Given the description of an element on the screen output the (x, y) to click on. 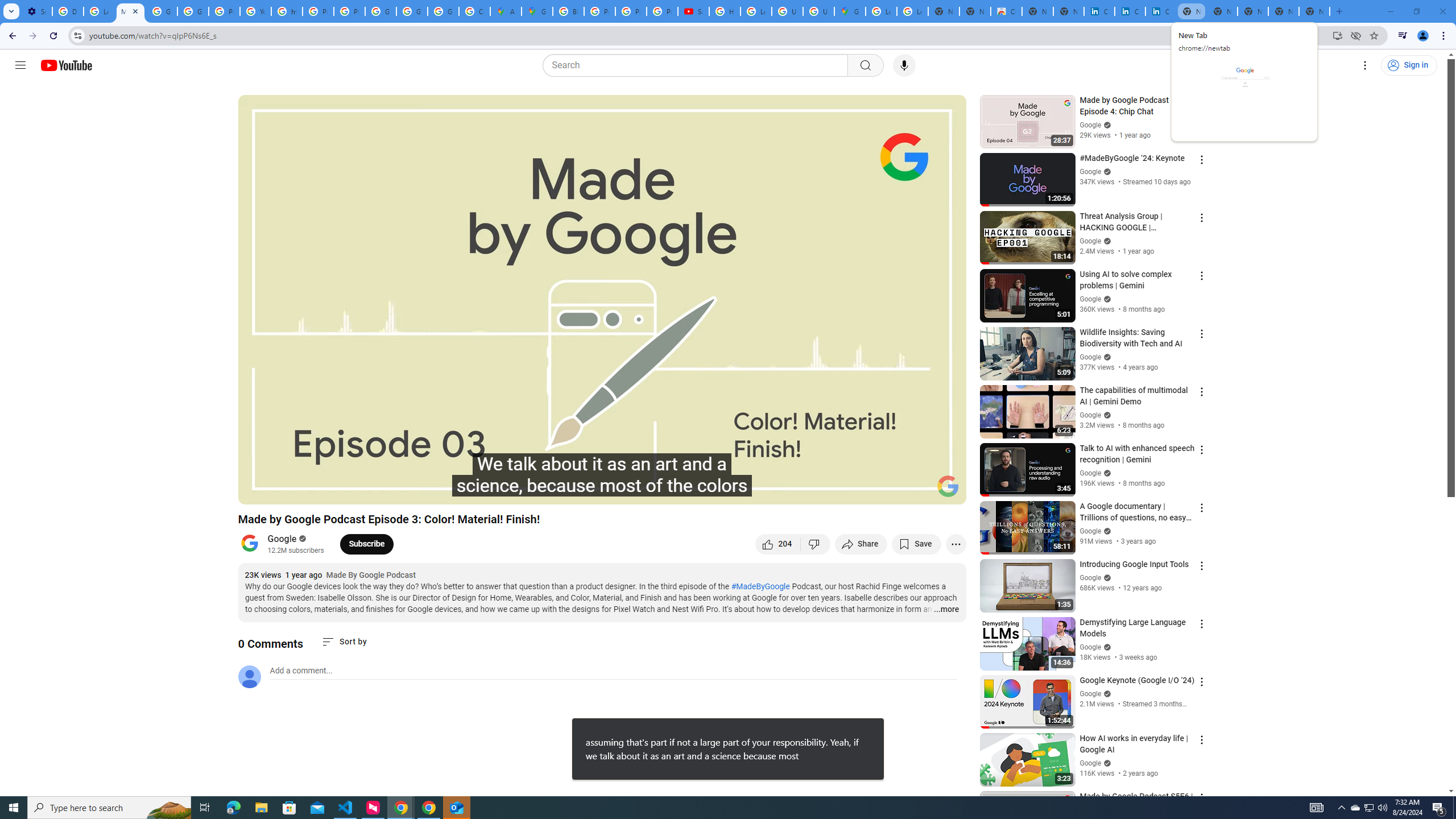
Pause (k) (257, 490)
Visual Studio Code - 1 running window (345, 807)
Default profile photo (248, 676)
Pin (846, 728)
Google Chrome - 1 running window (428, 807)
Cookie Policy | LinkedIn (1129, 11)
Action menu (1200, 798)
Microsoft Store (289, 807)
https://scholar.google.com/ (286, 11)
Google Account Help (161, 11)
Google Maps (536, 11)
